Given the description of an element on the screen output the (x, y) to click on. 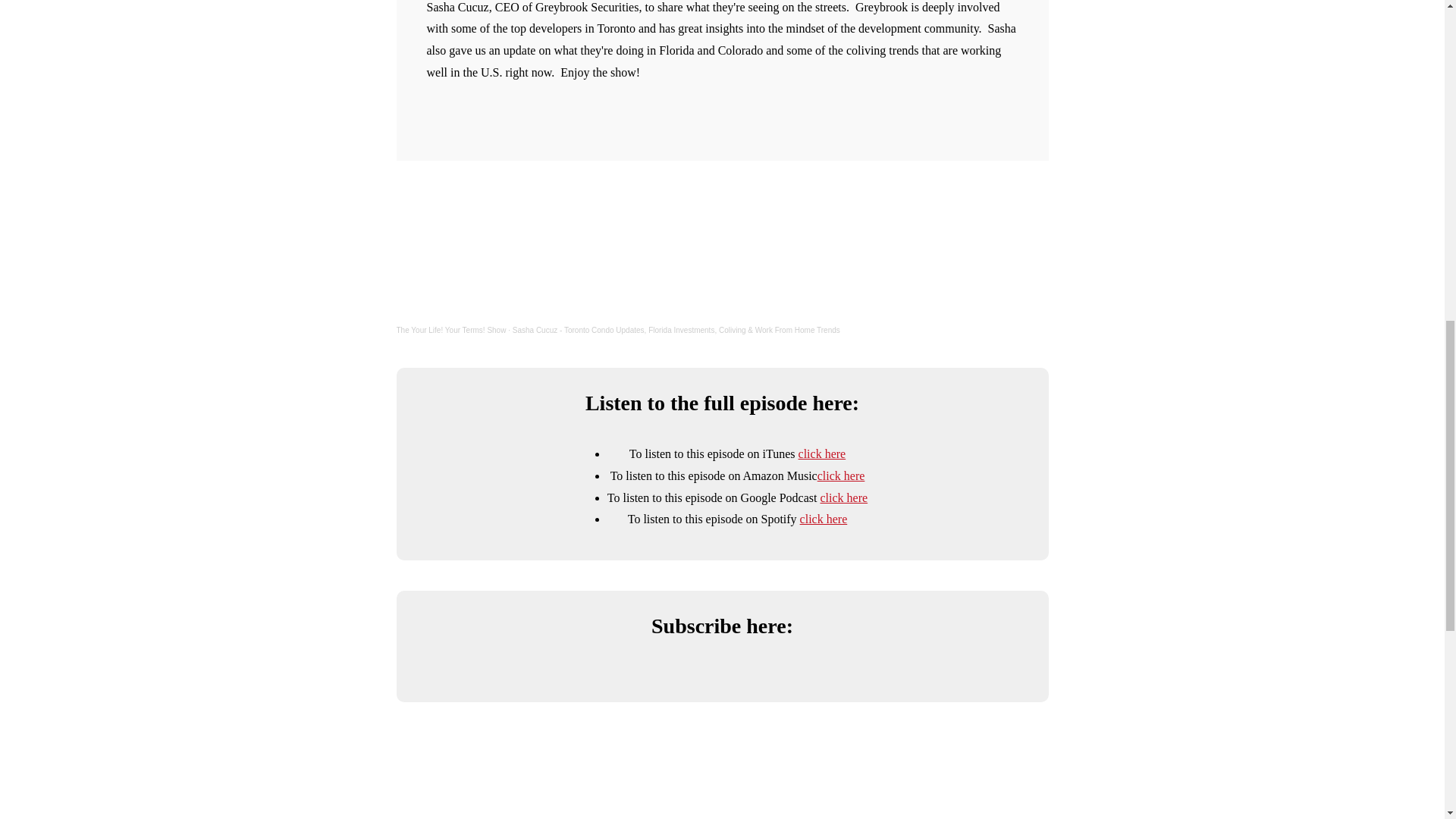
click here (823, 518)
click here (840, 475)
The Your Life! Your Terms! Show (450, 329)
The Your Life! Your Terms! Show (450, 329)
click here (844, 497)
click here (821, 453)
